Given the description of an element on the screen output the (x, y) to click on. 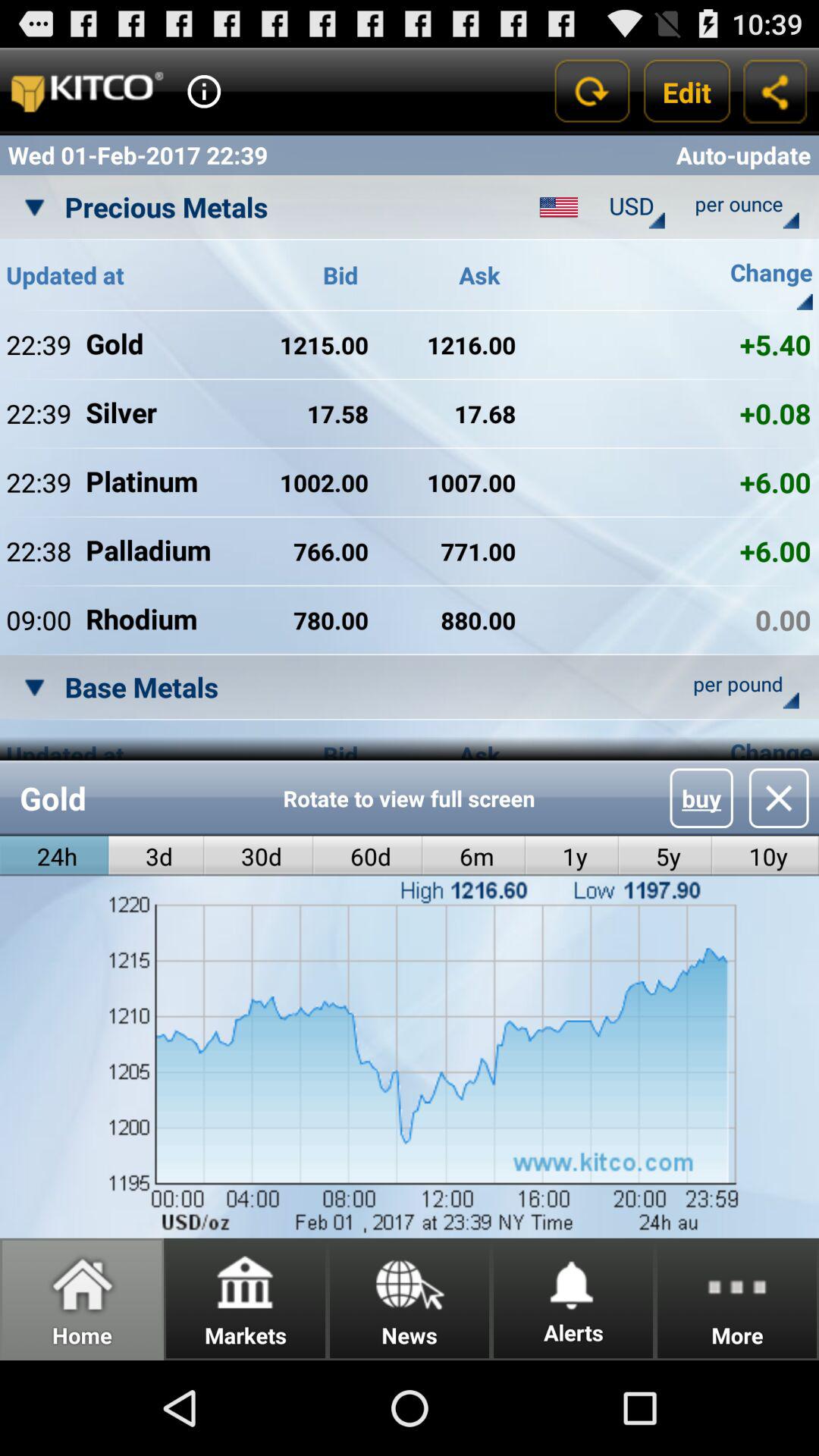
refresh (591, 91)
